Given the description of an element on the screen output the (x, y) to click on. 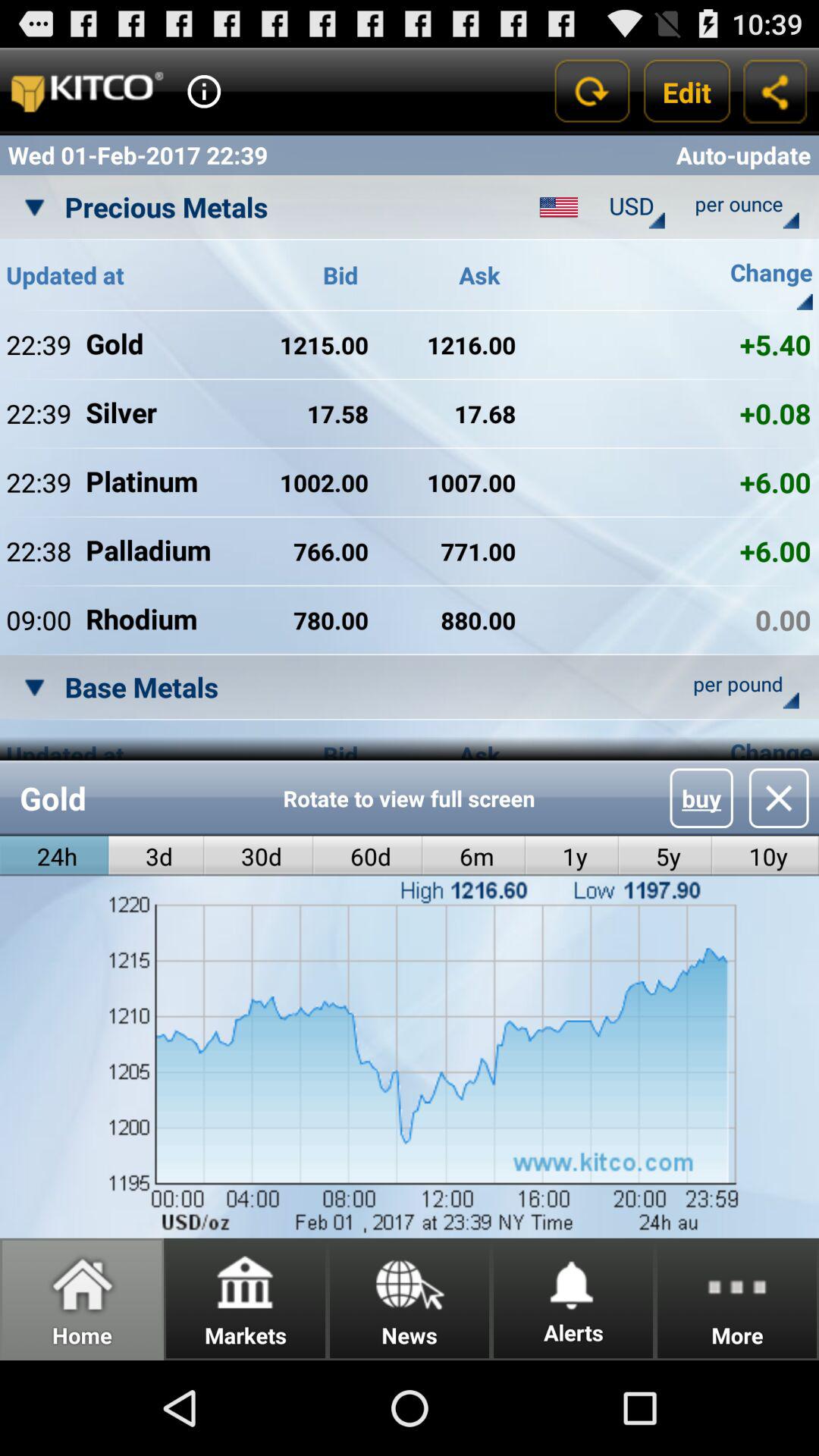
refresh (591, 91)
